Given the description of an element on the screen output the (x, y) to click on. 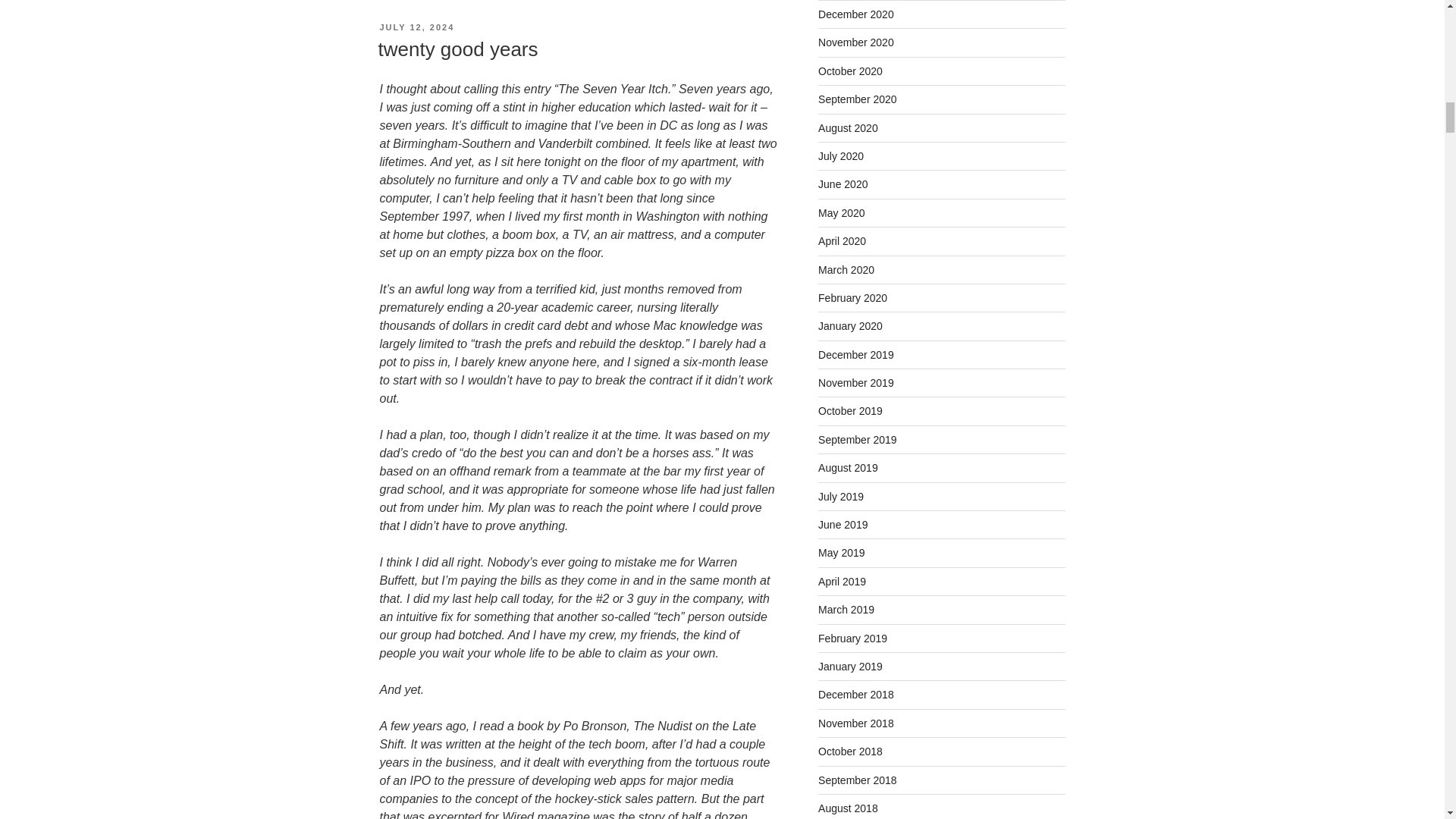
twenty good years (457, 48)
JULY 12, 2024 (416, 26)
